Given the description of an element on the screen output the (x, y) to click on. 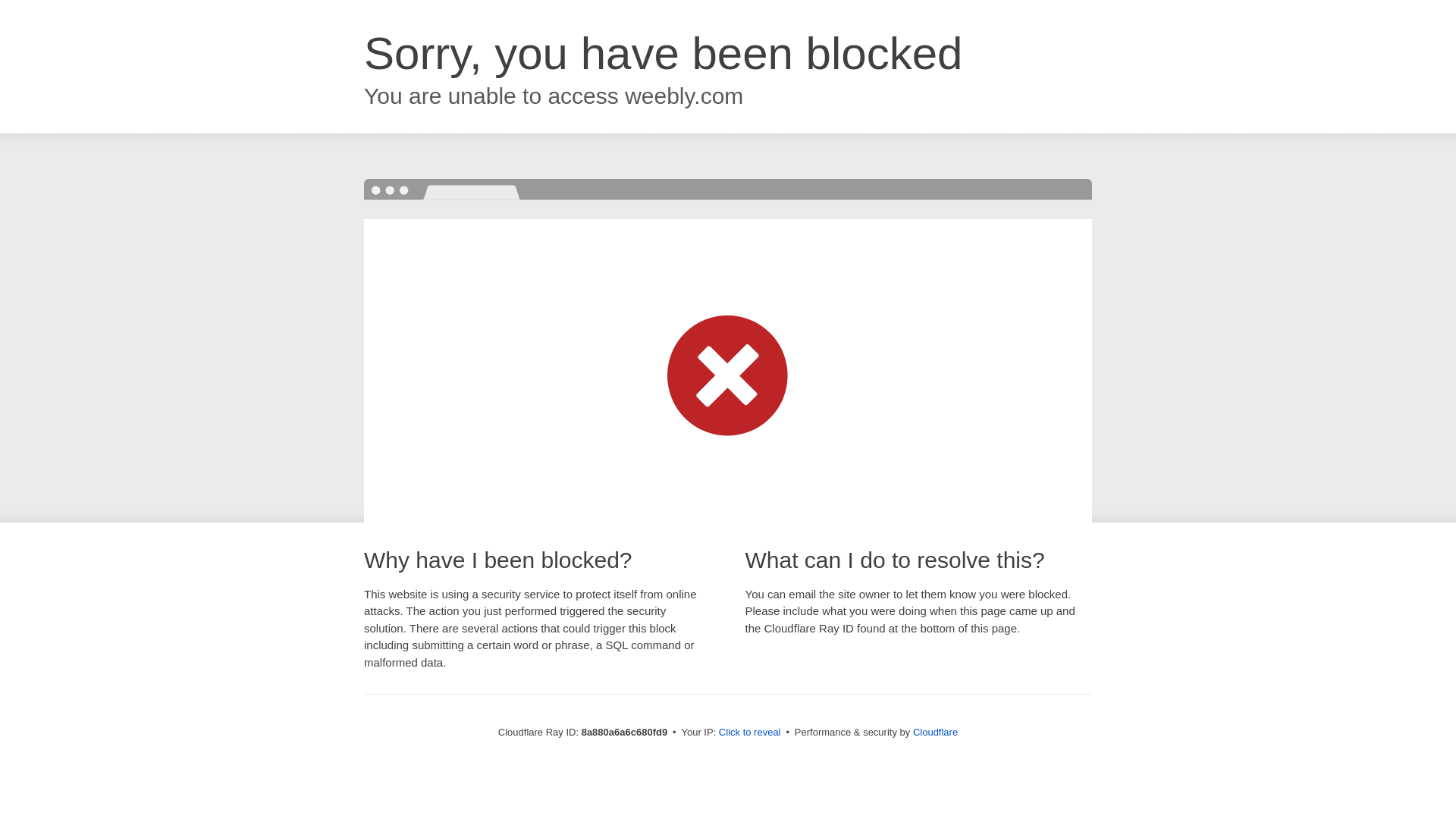
Cloudflare (935, 731)
Click to reveal (749, 732)
